Given the description of an element on the screen output the (x, y) to click on. 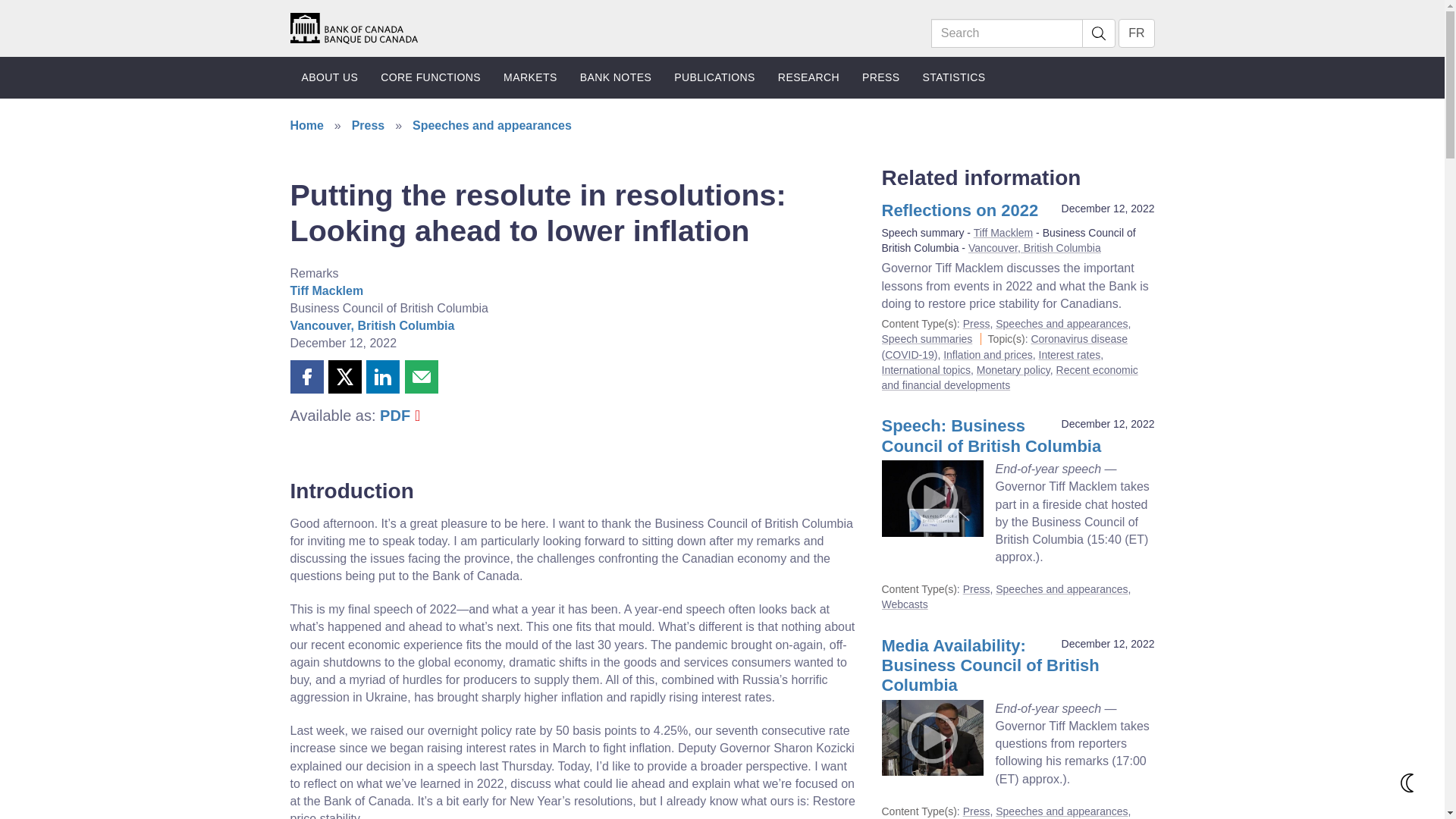
FR (1136, 32)
Share this page on X (345, 376)
Home (352, 27)
Home (352, 28)
ABOUT US (329, 77)
CORE FUNCTIONS (430, 77)
Share this page on Facebook (306, 376)
Home (352, 27)
Search (1007, 32)
MARKETS (530, 77)
